Given the description of an element on the screen output the (x, y) to click on. 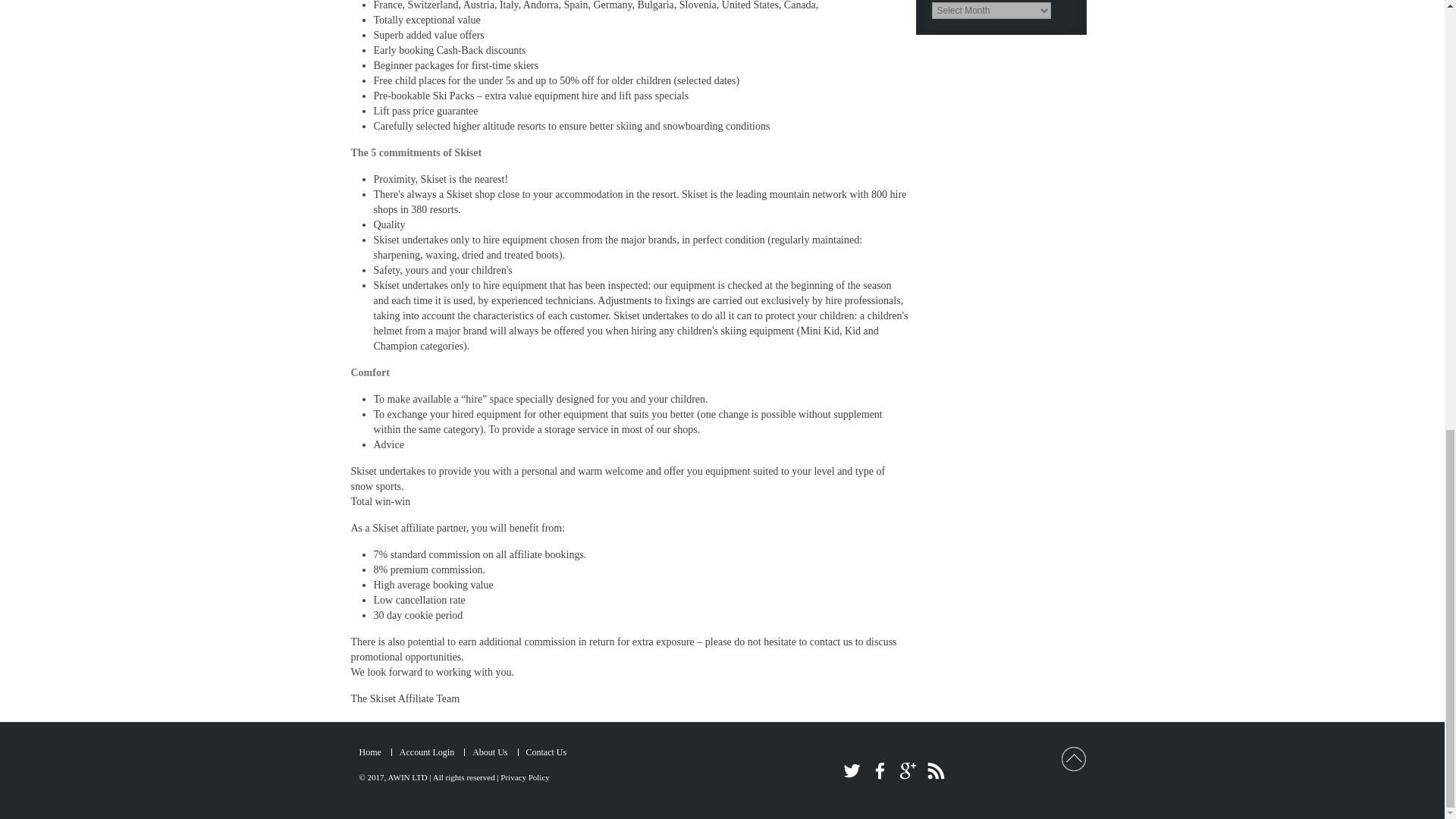
Account Login (426, 752)
About Us (488, 752)
Privacy Policy (524, 777)
Home (370, 752)
Contact Us (546, 752)
